Given the description of an element on the screen output the (x, y) to click on. 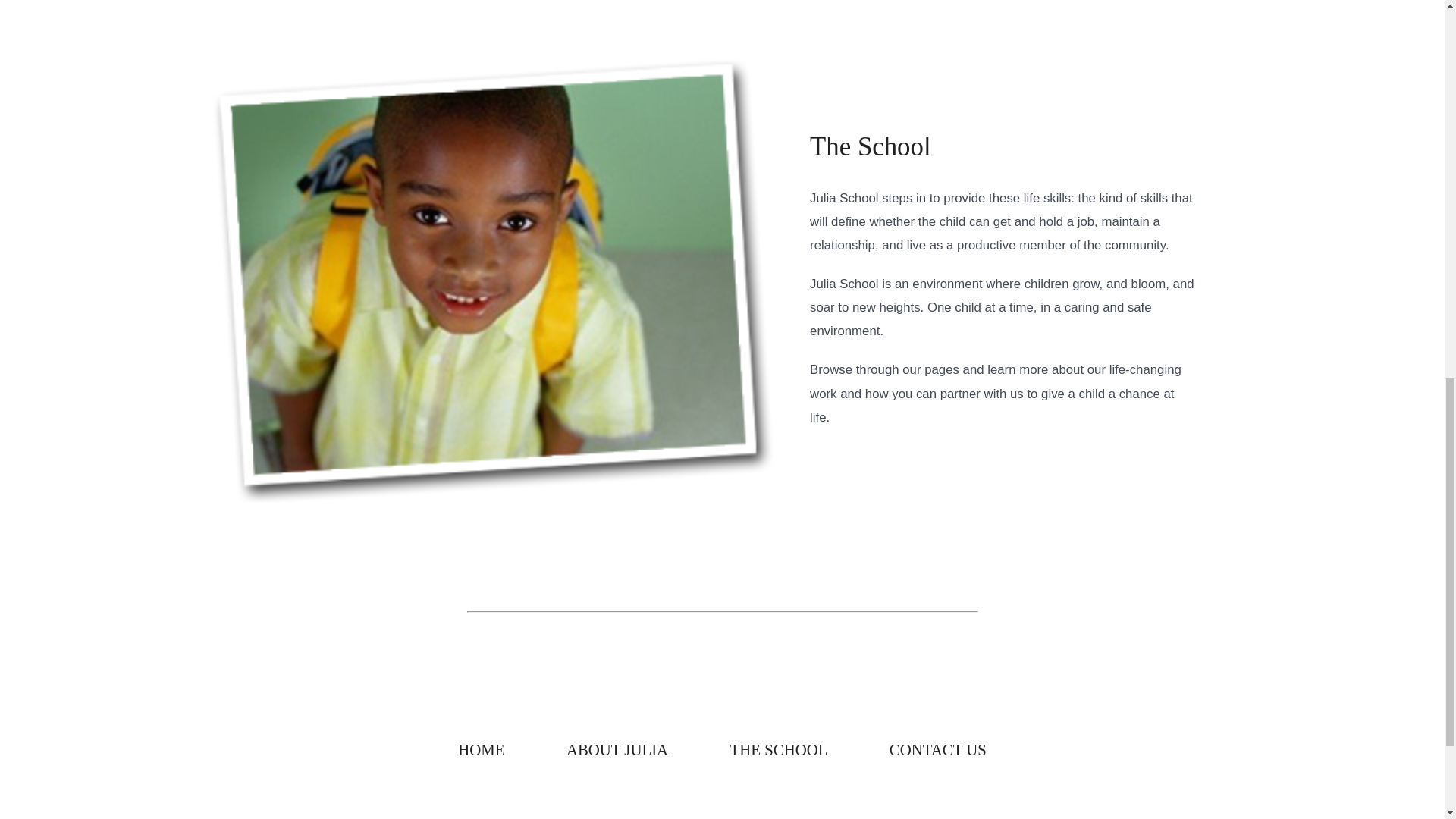
THE SCHOOL (778, 750)
HOME (481, 750)
CONTACT US (937, 750)
ABOUT JULIA (617, 750)
